Given the description of an element on the screen output the (x, y) to click on. 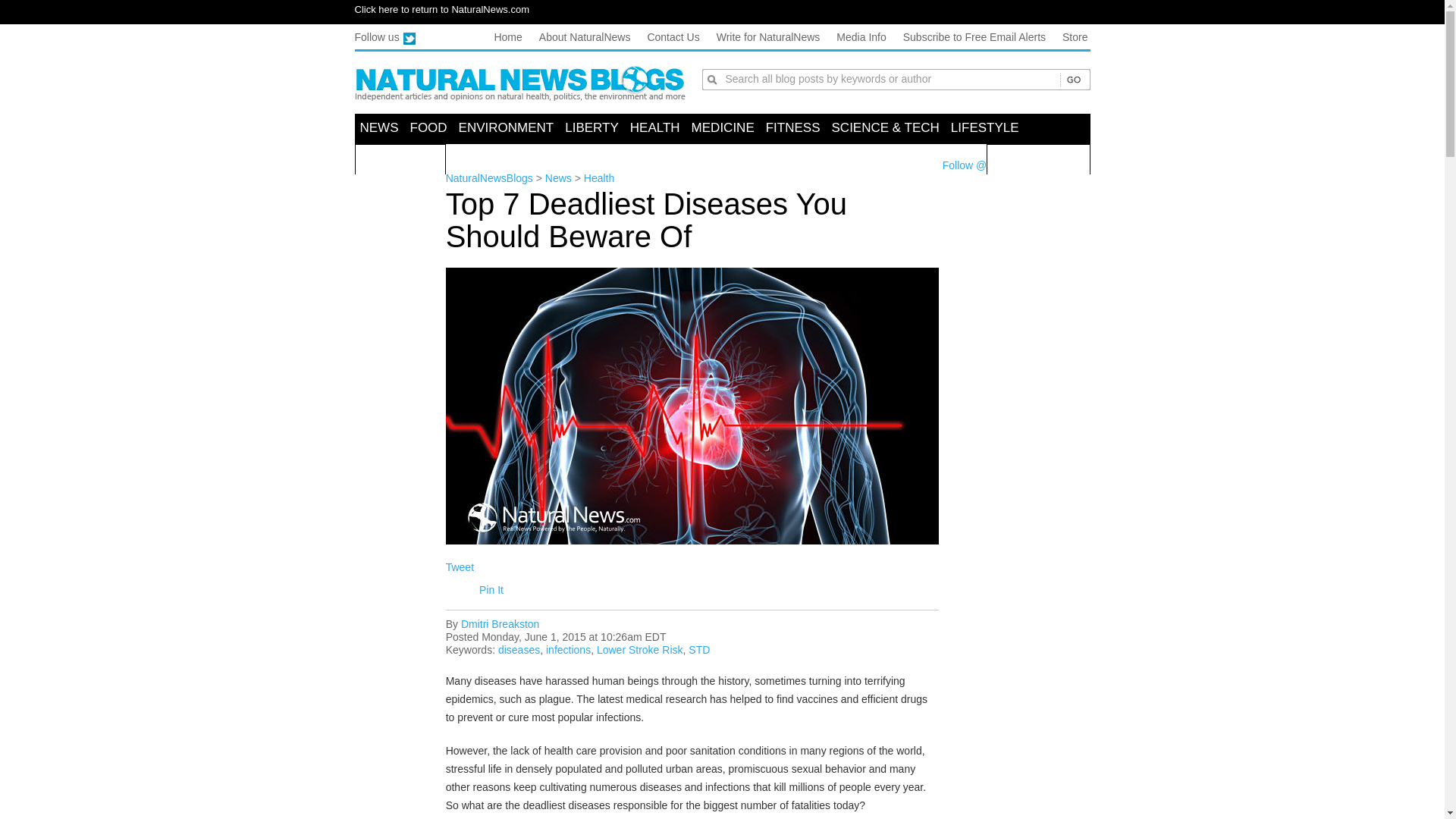
Go to the Health category archives. (598, 177)
Home (507, 37)
go (1071, 79)
NaturalNewsBlogs (520, 82)
Click here to return to NaturalNews.com (442, 9)
go (1071, 79)
Go to NaturalNewsBlogs. (488, 177)
Media Info (860, 37)
About NaturalNews (584, 37)
Store (1074, 37)
Go to the News category archives. (558, 177)
Subscribe to Free Email Alerts (973, 37)
Write for NaturalNews (768, 37)
Search all blog posts by keywords or author (891, 78)
Contact Us (672, 37)
